Given the description of an element on the screen output the (x, y) to click on. 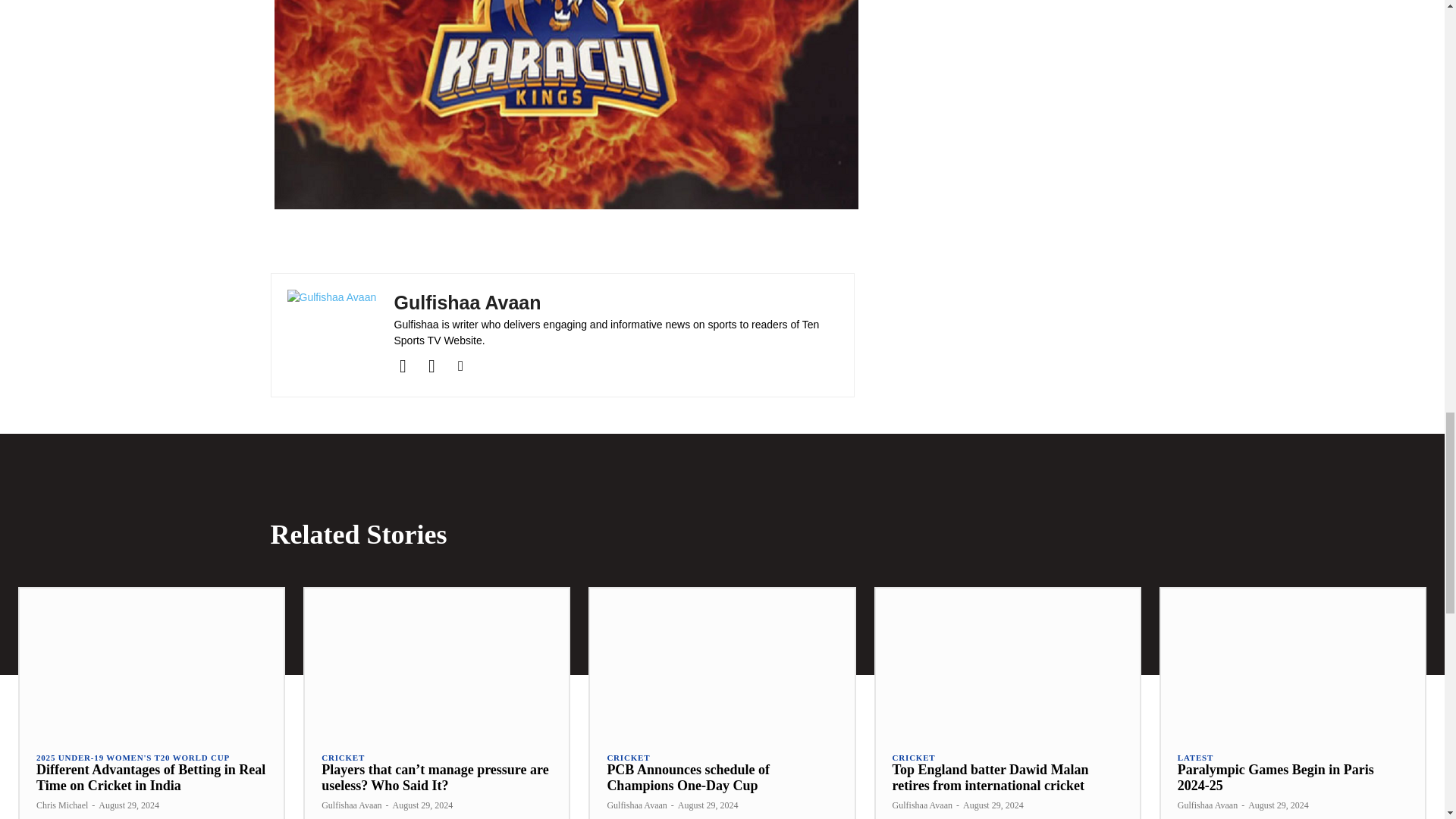
Facebook (403, 366)
Gulfishaa Avaan (331, 334)
Gulfishaa Avaan (616, 302)
